Given the description of an element on the screen output the (x, y) to click on. 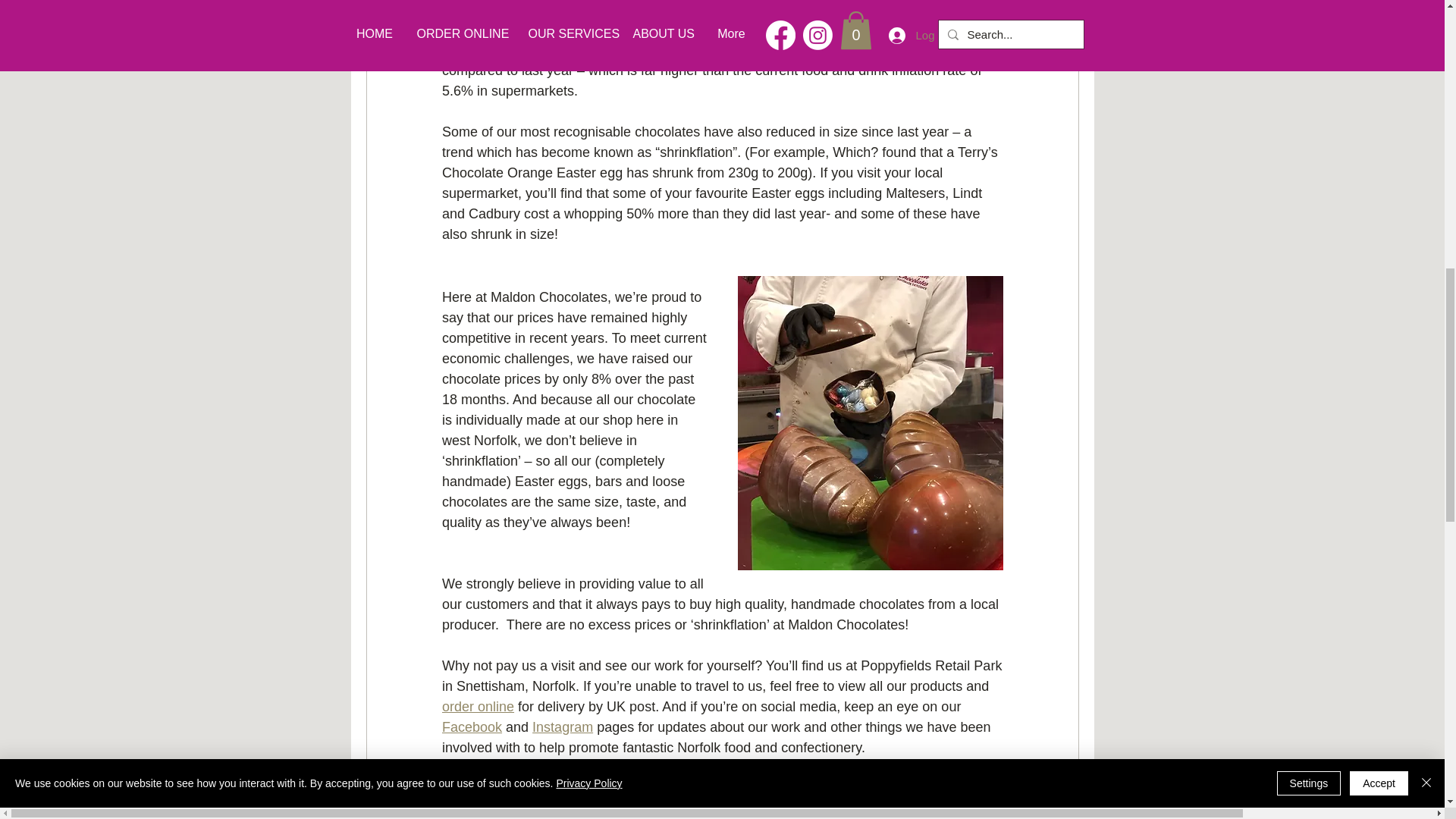
Facebook (470, 726)
order online (477, 706)
Which? report (617, 49)
Instagram (562, 726)
